Given the description of an element on the screen output the (x, y) to click on. 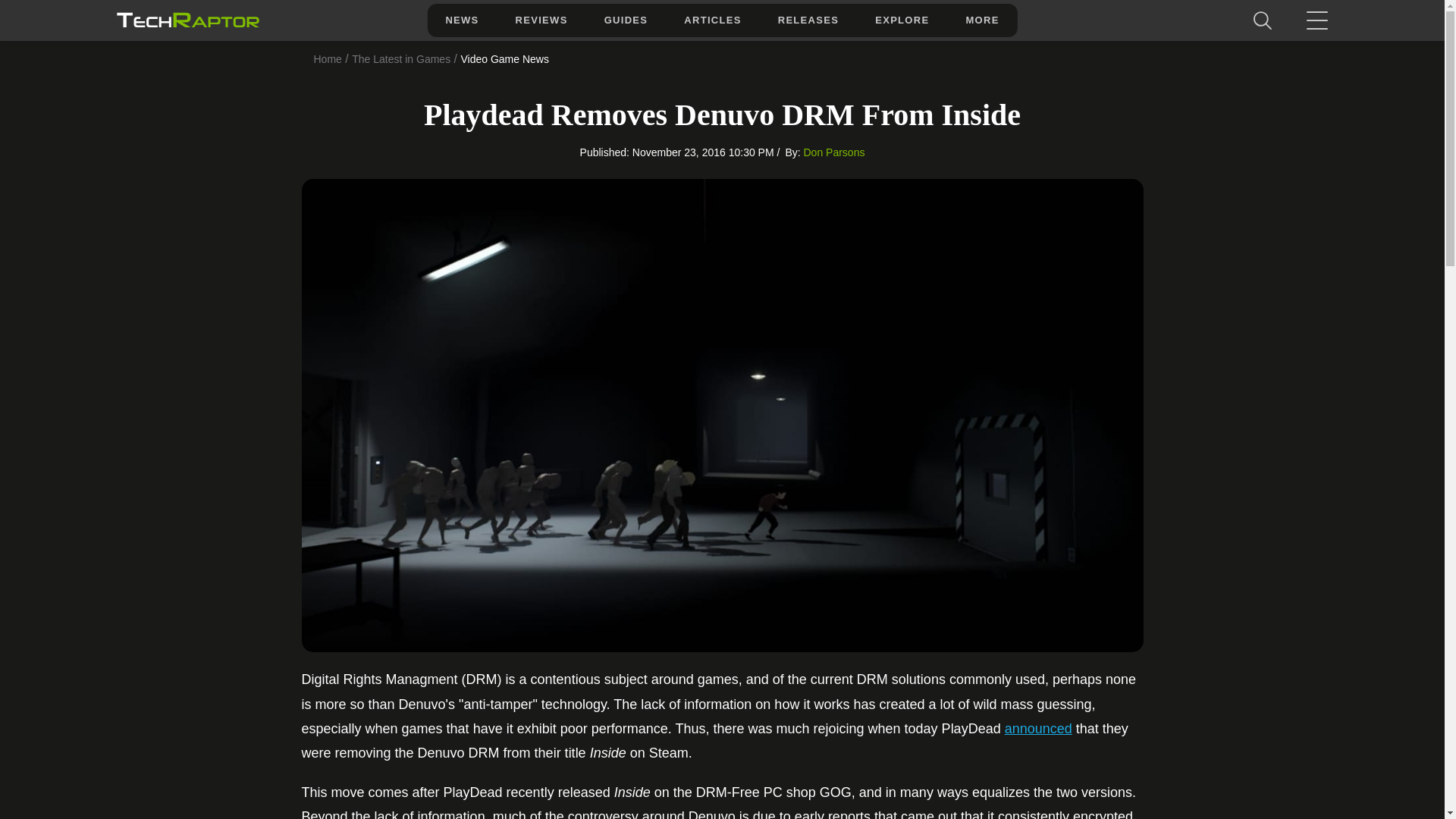
REVIEWS (541, 20)
ARTICLES (711, 20)
RELEASES (807, 20)
TechRaptor Home (187, 20)
NEWS (461, 20)
GUIDES (626, 20)
